Given the description of an element on the screen output the (x, y) to click on. 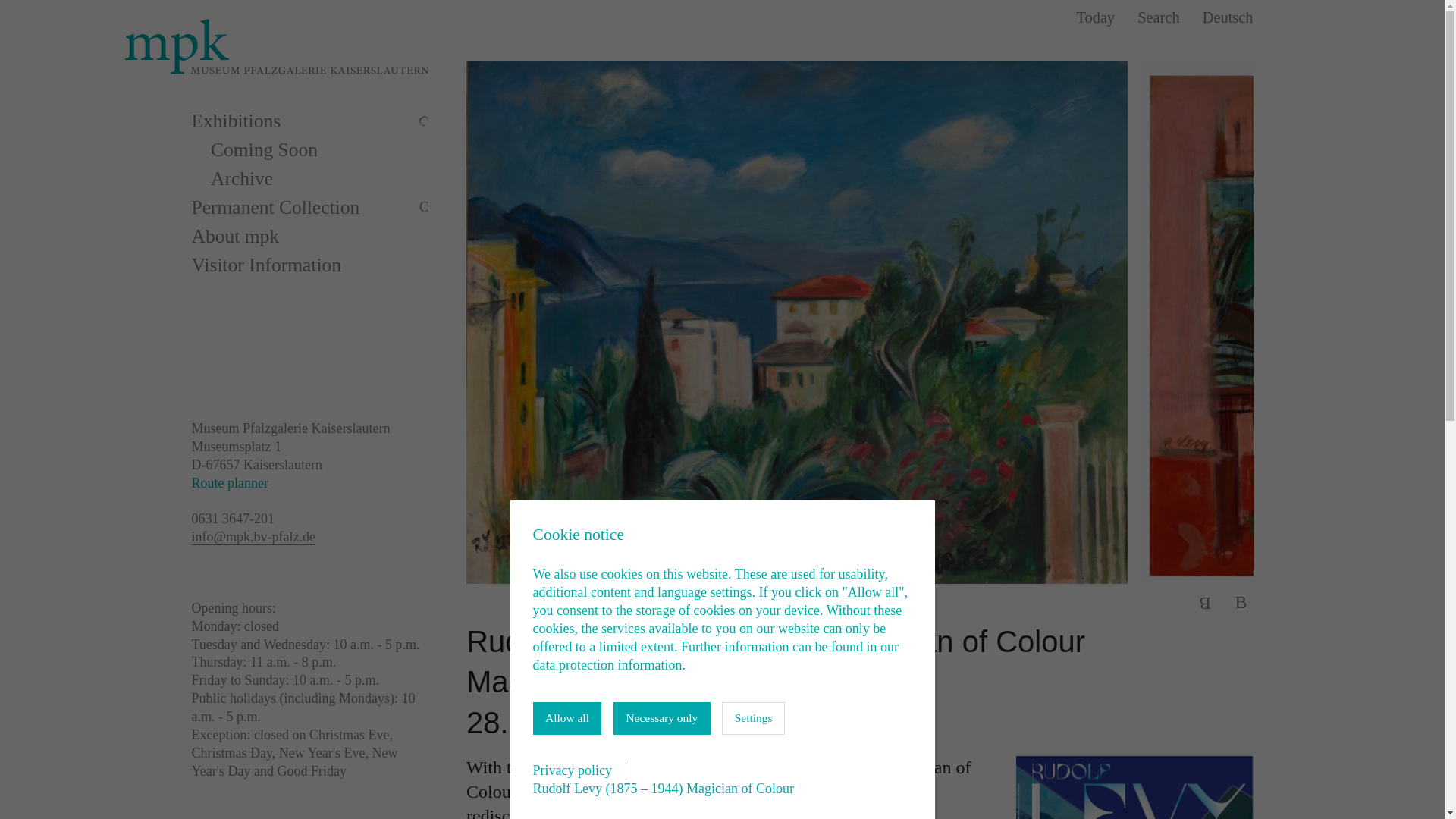
About mpk (309, 234)
Today (1096, 17)
Coming Soon (319, 148)
Exhibitions (290, 119)
Deutsch (1227, 17)
Plakat RL (1134, 787)
Route planner (228, 482)
Permanent Collection (290, 205)
Visitor Information (309, 263)
Archive (319, 176)
